Given the description of an element on the screen output the (x, y) to click on. 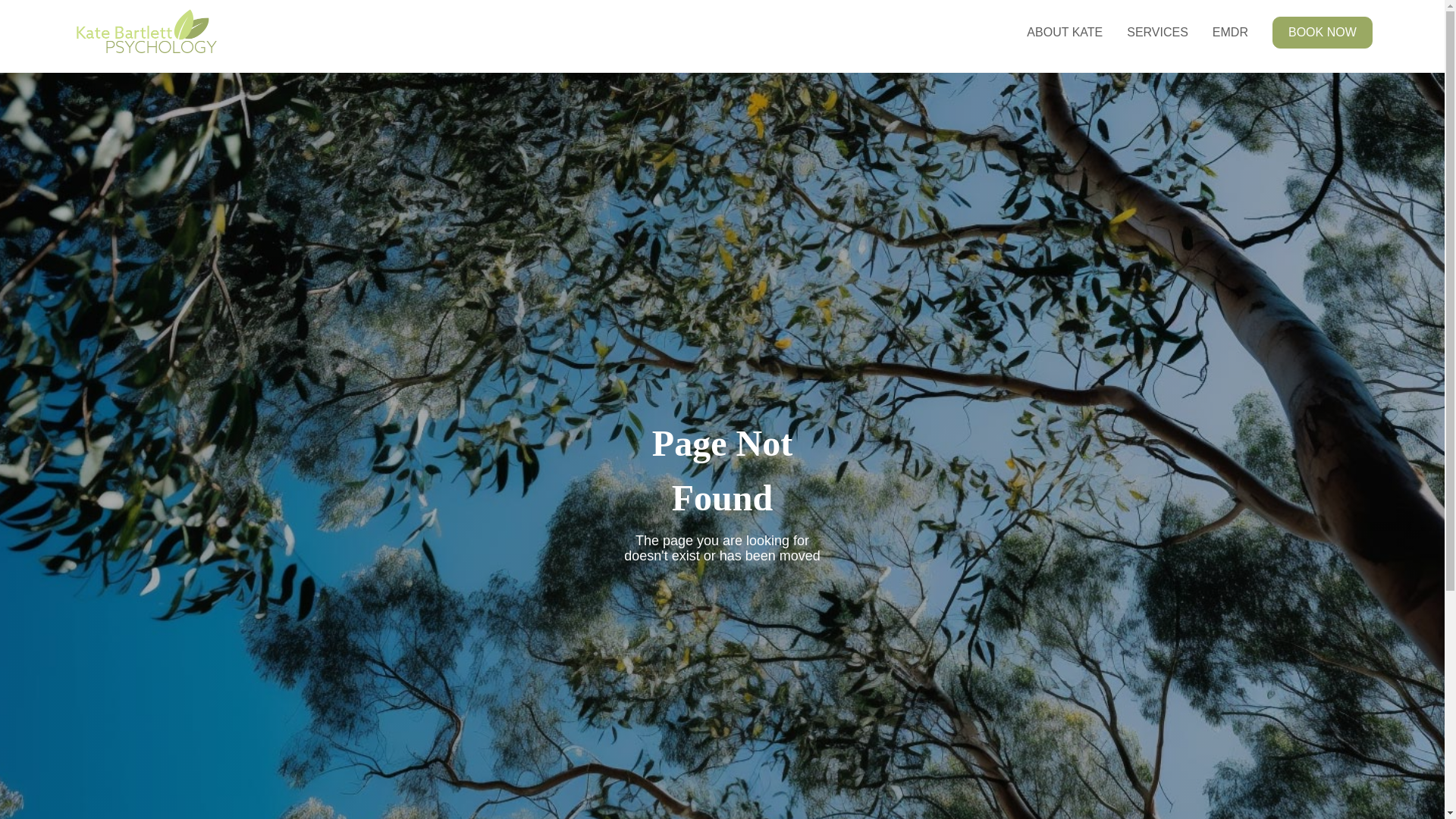
SERVICES Element type: text (1157, 32)
EMDR Element type: text (1230, 32)
BOOK NOW Element type: text (1322, 32)
ABOUT KATE Element type: text (1064, 32)
